Given the description of an element on the screen output the (x, y) to click on. 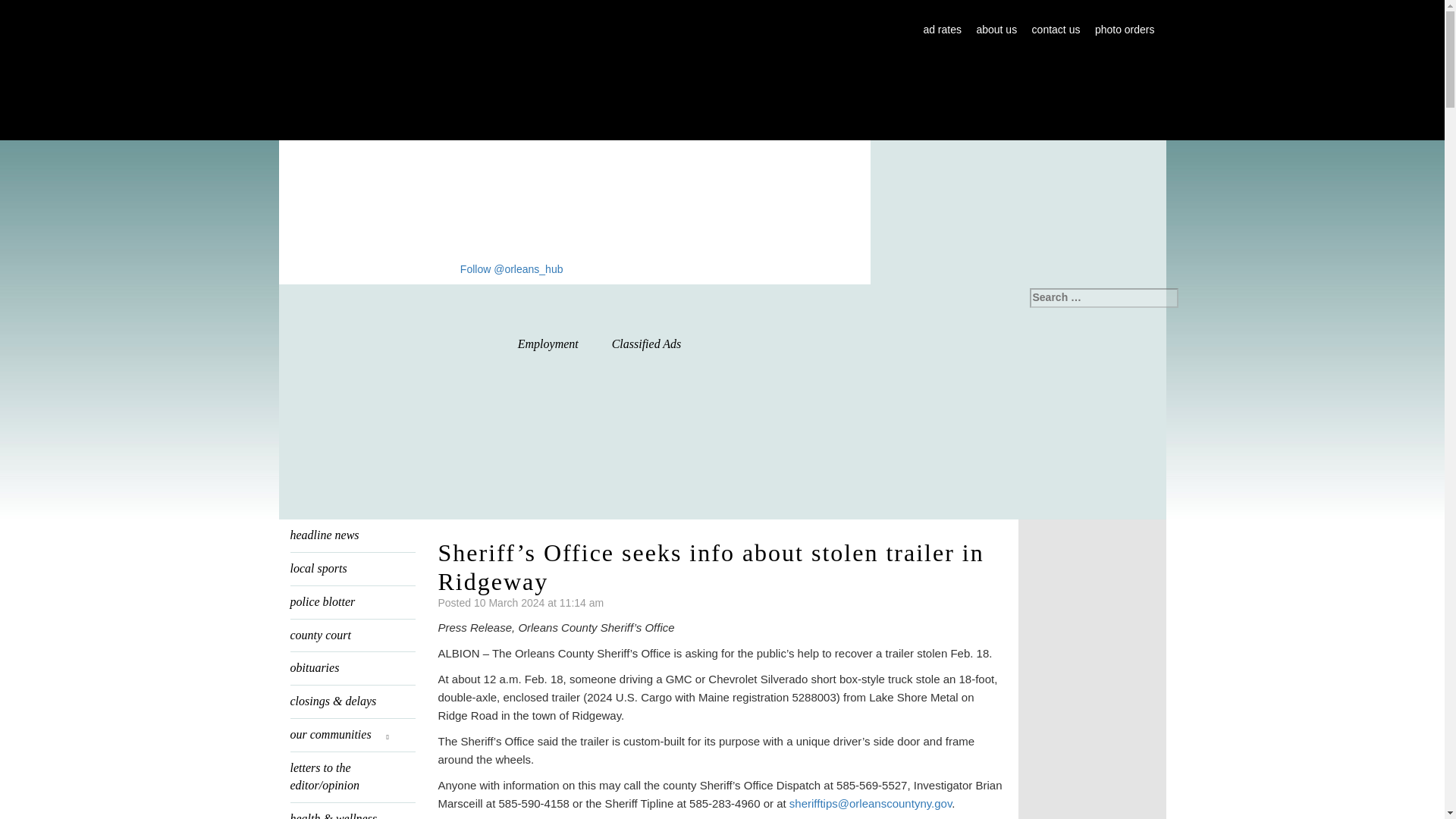
local sports (351, 568)
about us (995, 29)
ad rates (941, 29)
Classified Ads (646, 344)
Orleans Hub Ad Rates (941, 29)
Search for: (1103, 297)
Find Orleans Hub on Facebook (445, 268)
our communities (351, 735)
Search (22, 9)
contact us (1056, 29)
